Given the description of an element on the screen output the (x, y) to click on. 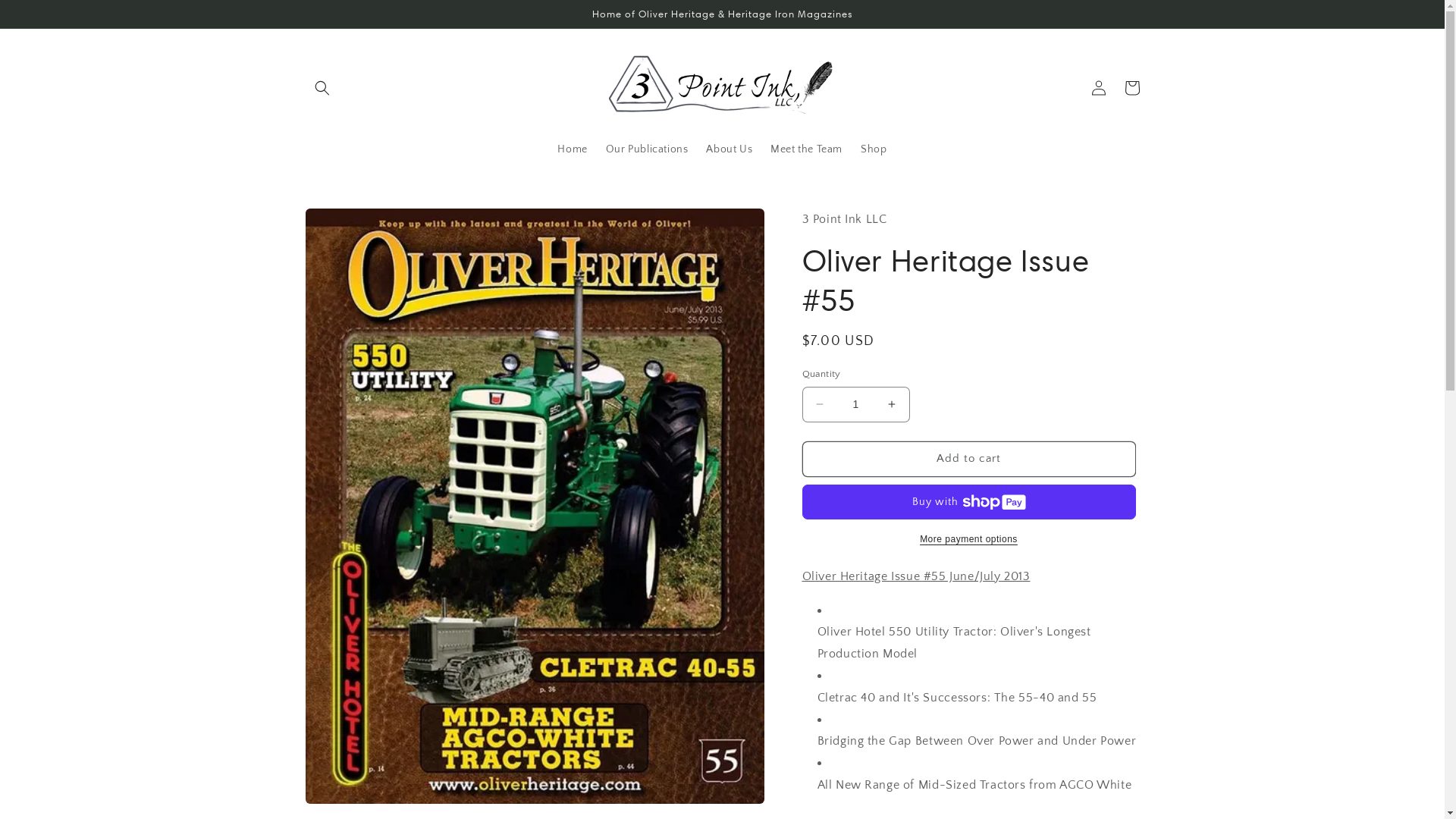
Meet the Team Element type: text (806, 149)
Add to cart Element type: text (968, 458)
Decrease quantity for Oliver Heritage Issue #55 Element type: text (819, 404)
Our Publications Element type: text (646, 149)
Shop Element type: text (873, 149)
About Us Element type: text (728, 149)
Skip to product information Element type: text (350, 225)
Log in Element type: text (1097, 87)
Increase quantity for Oliver Heritage Issue #55 Element type: text (892, 404)
Cart Element type: text (1131, 87)
Home Element type: text (572, 149)
More payment options Element type: text (968, 538)
